Given the description of an element on the screen output the (x, y) to click on. 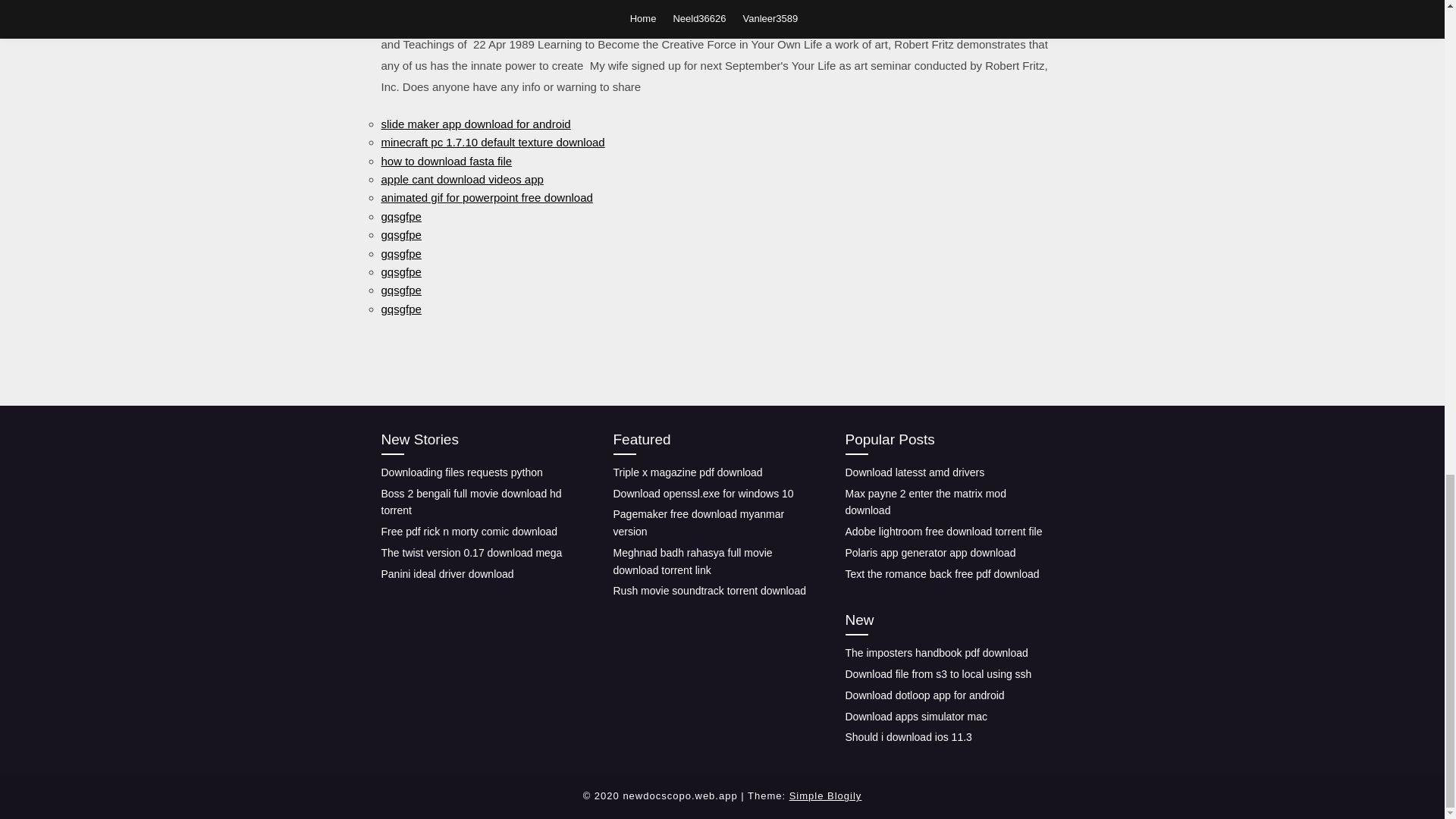
The imposters handbook pdf download (935, 653)
Adobe lightroom free download torrent file (943, 531)
Free pdf rick n morty comic download (468, 531)
Downloading files requests python (460, 472)
apple cant download videos app (461, 178)
Max payne 2 enter the matrix mod download (925, 501)
Should i download ios 11.3 (907, 736)
minecraft pc 1.7.10 default texture download (492, 141)
Download file from s3 to local using ssh (937, 674)
Boss 2 bengali full movie download hd torrent (470, 501)
